Given the description of an element on the screen output the (x, y) to click on. 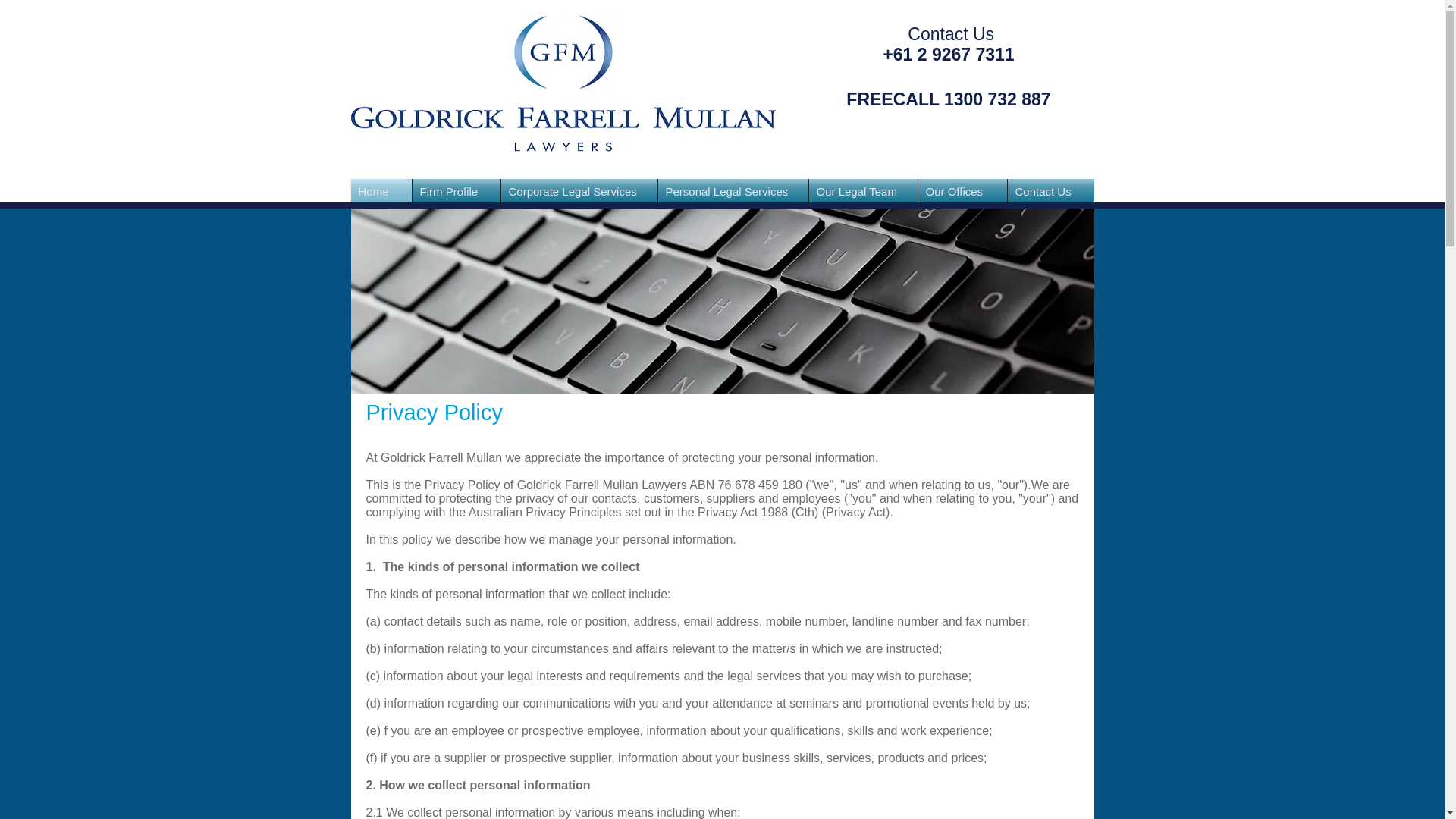
Firm Profile (456, 191)
Corporate Legal Services (578, 191)
Personal Legal Services (733, 191)
Home (380, 191)
Our Legal Team (862, 191)
